Given the description of an element on the screen output the (x, y) to click on. 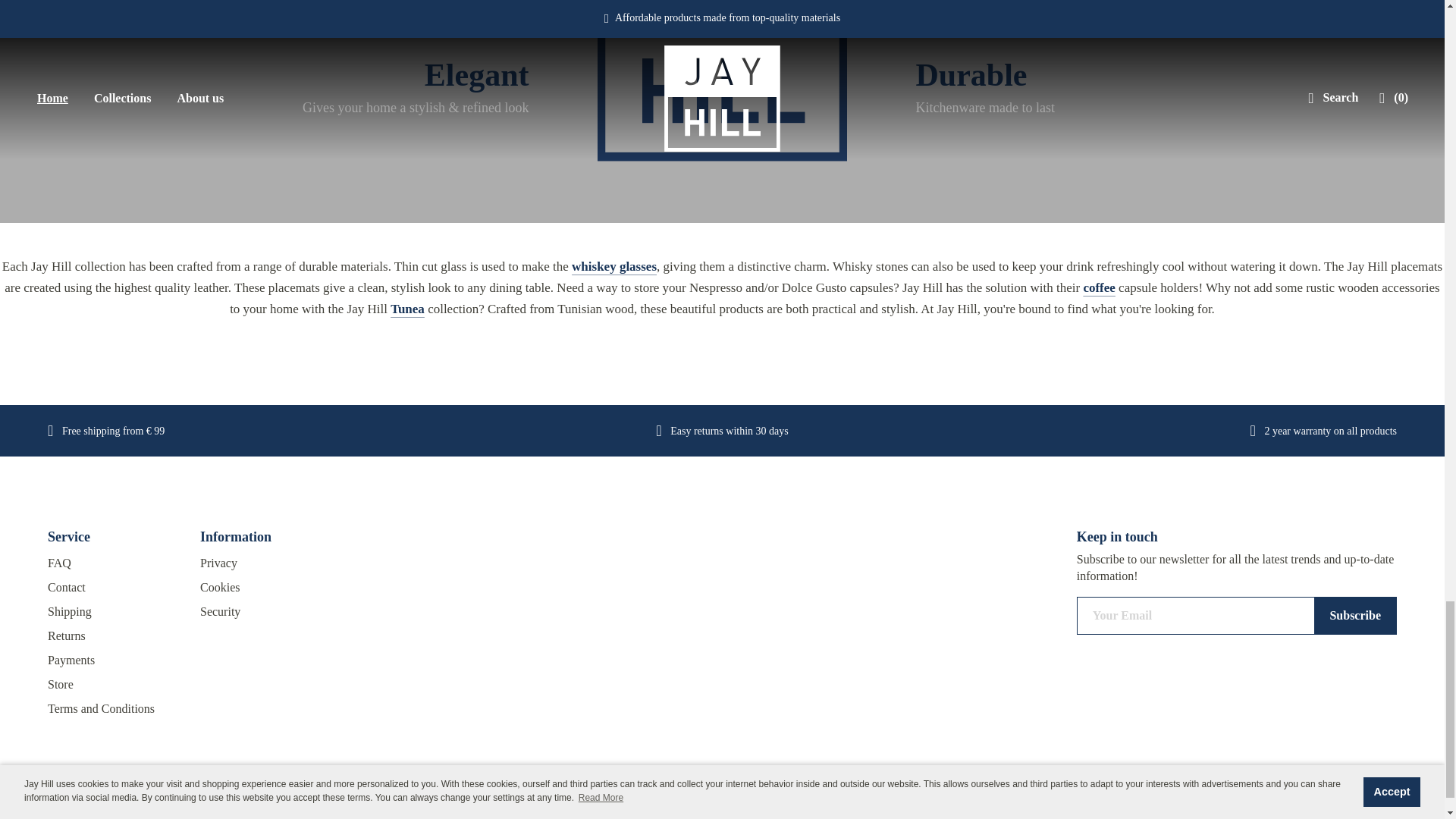
Cookies (265, 587)
coffee (1099, 287)
Subscribe (1355, 615)
Tunea (407, 309)
whiskey glasses (614, 266)
Payments (112, 660)
Security (265, 611)
Returns (112, 636)
Contact (112, 587)
Store (112, 684)
